Given the description of an element on the screen output the (x, y) to click on. 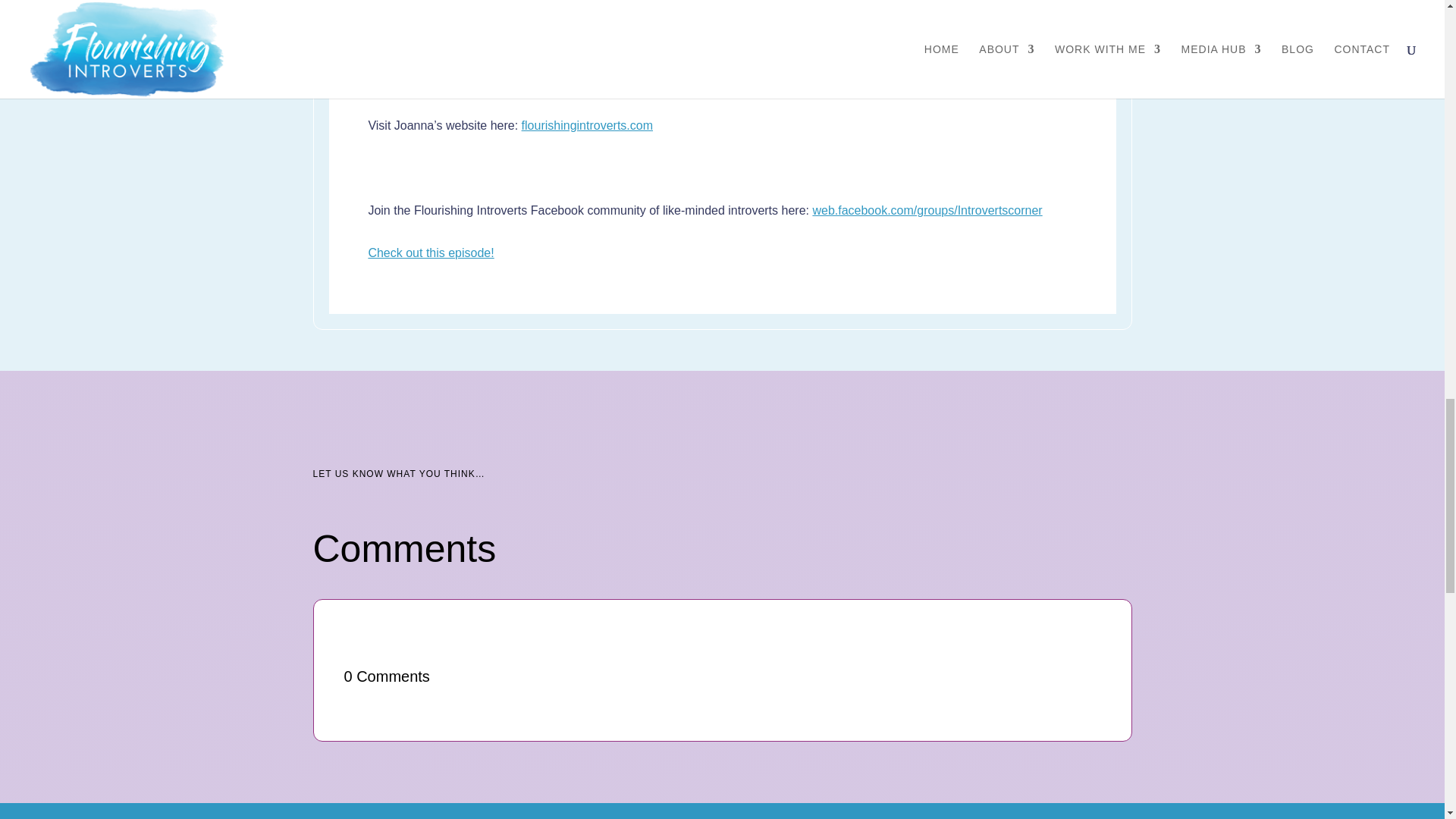
yourintroverttype.co.uk (752, 40)
Check out this episode! (430, 252)
flourishingintroverts.com (586, 124)
